Given the description of an element on the screen output the (x, y) to click on. 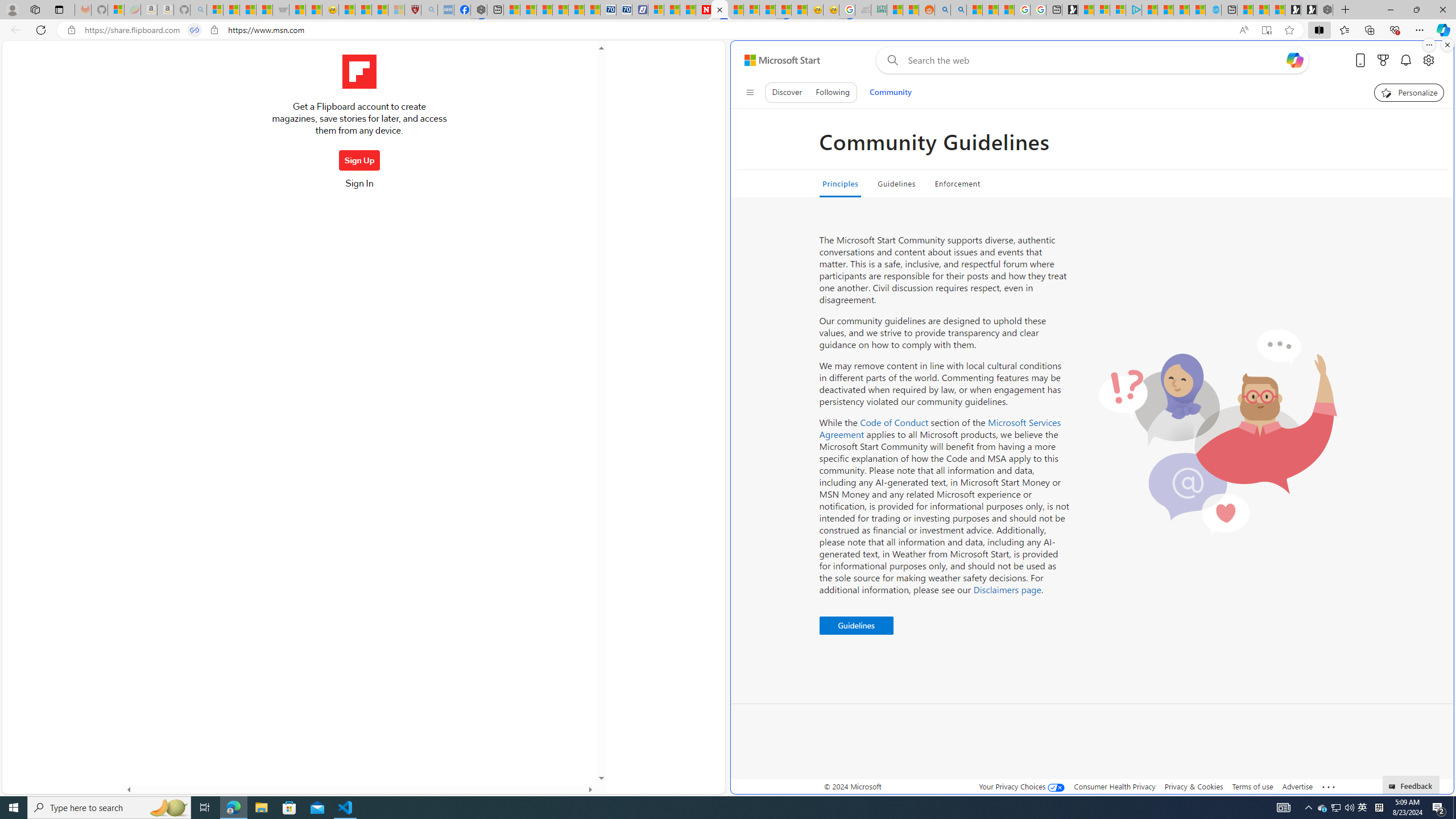
Your Privacy Choices (1021, 786)
Navy Quest (863, 9)
Advertise (1297, 785)
Class: control icon-only (749, 92)
Terms of use (1252, 785)
list of asthma inhalers uk - Search - Sleeping (429, 9)
Guidelines (895, 183)
Combat Siege (280, 9)
Skip to footer (775, 59)
Cheap Hotels - Save70.com (624, 9)
Community (889, 92)
